Given the description of an element on the screen output the (x, y) to click on. 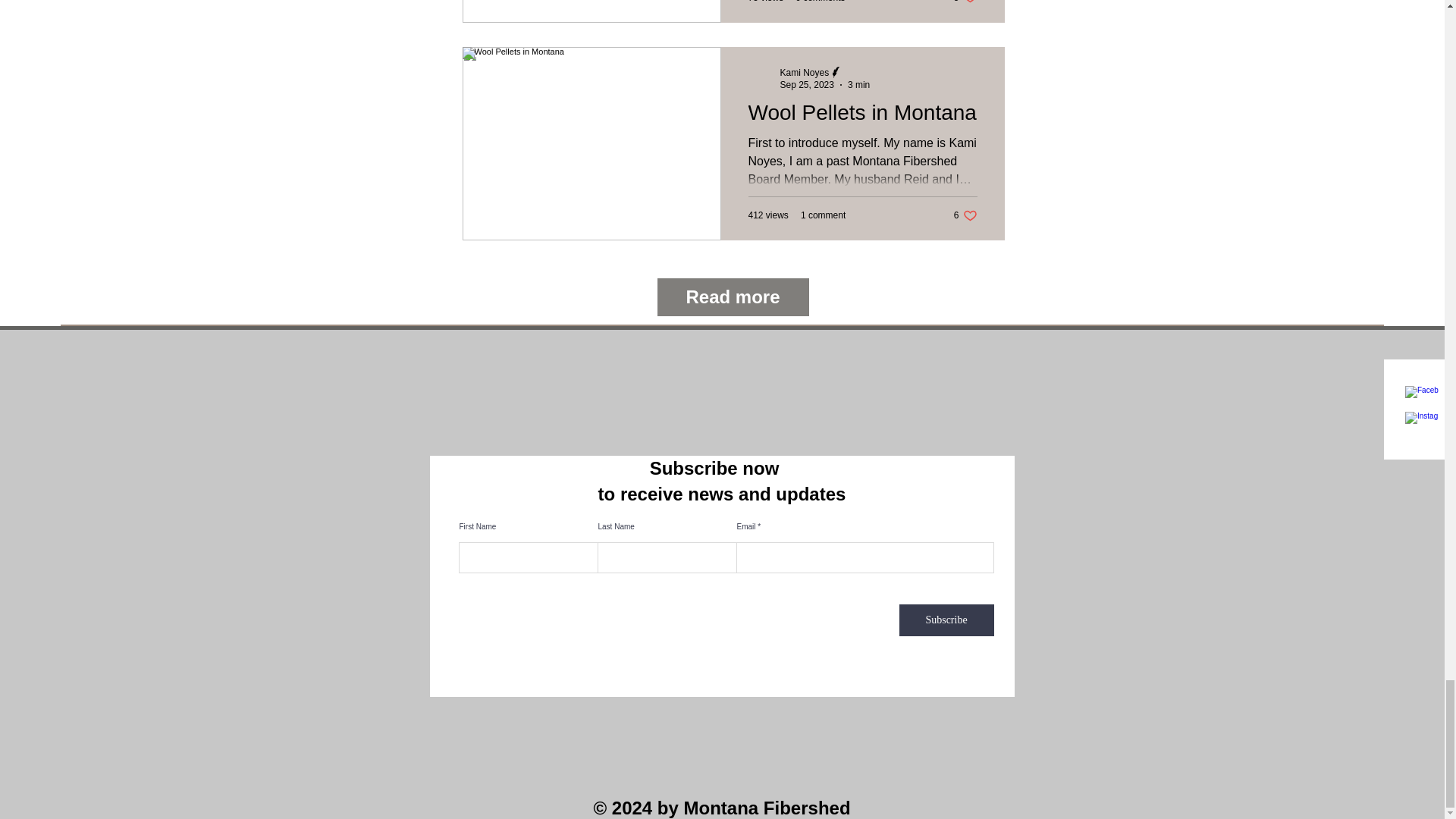
0 comments (819, 1)
Read more (732, 297)
Subscribe (964, 215)
Sep 25, 2023 (946, 620)
1 comment (805, 84)
Kami Noyes (822, 214)
3 min (964, 2)
Kami Noyes (803, 72)
